Given the description of an element on the screen output the (x, y) to click on. 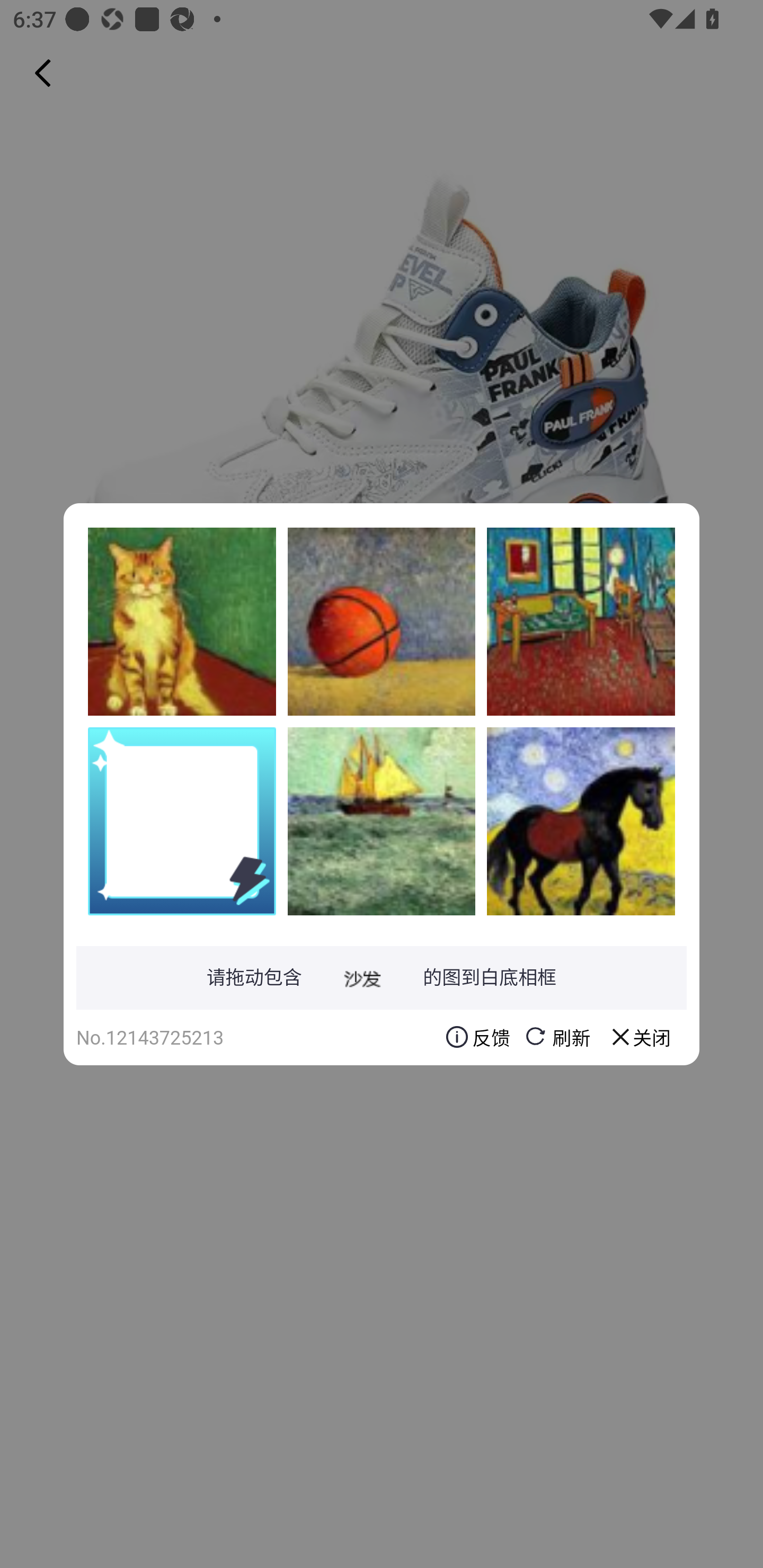
ciIc3y (181, 621)
